Given the description of an element on the screen output the (x, y) to click on. 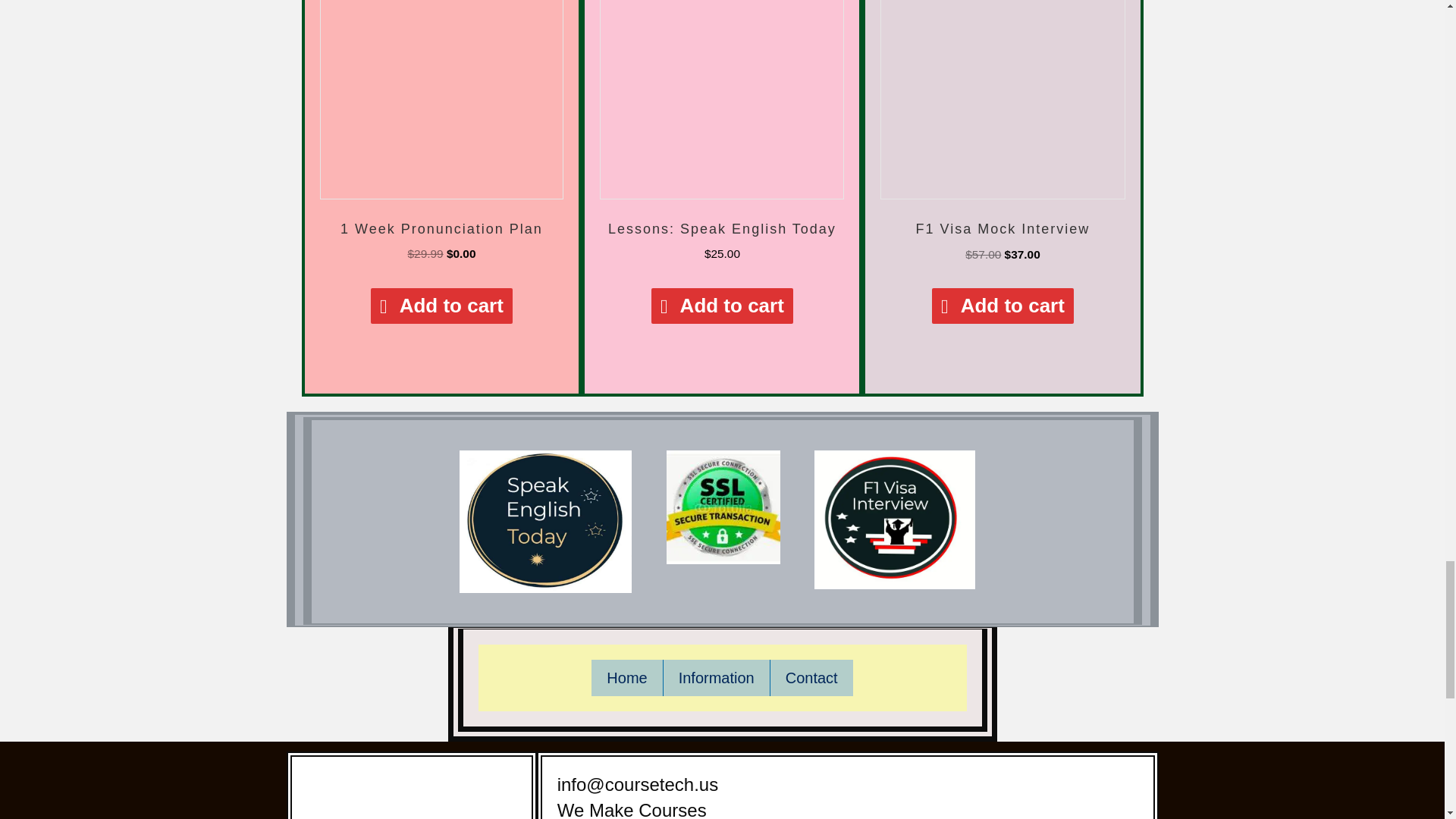
Contact (811, 678)
logo rounded speak english today (545, 521)
f1 visa interview logo (894, 519)
Home (626, 678)
Add to cart (721, 305)
Add to cart (1002, 305)
Information (716, 678)
Add to cart (441, 305)
ssl secure transaction https (723, 507)
